Given the description of an element on the screen output the (x, y) to click on. 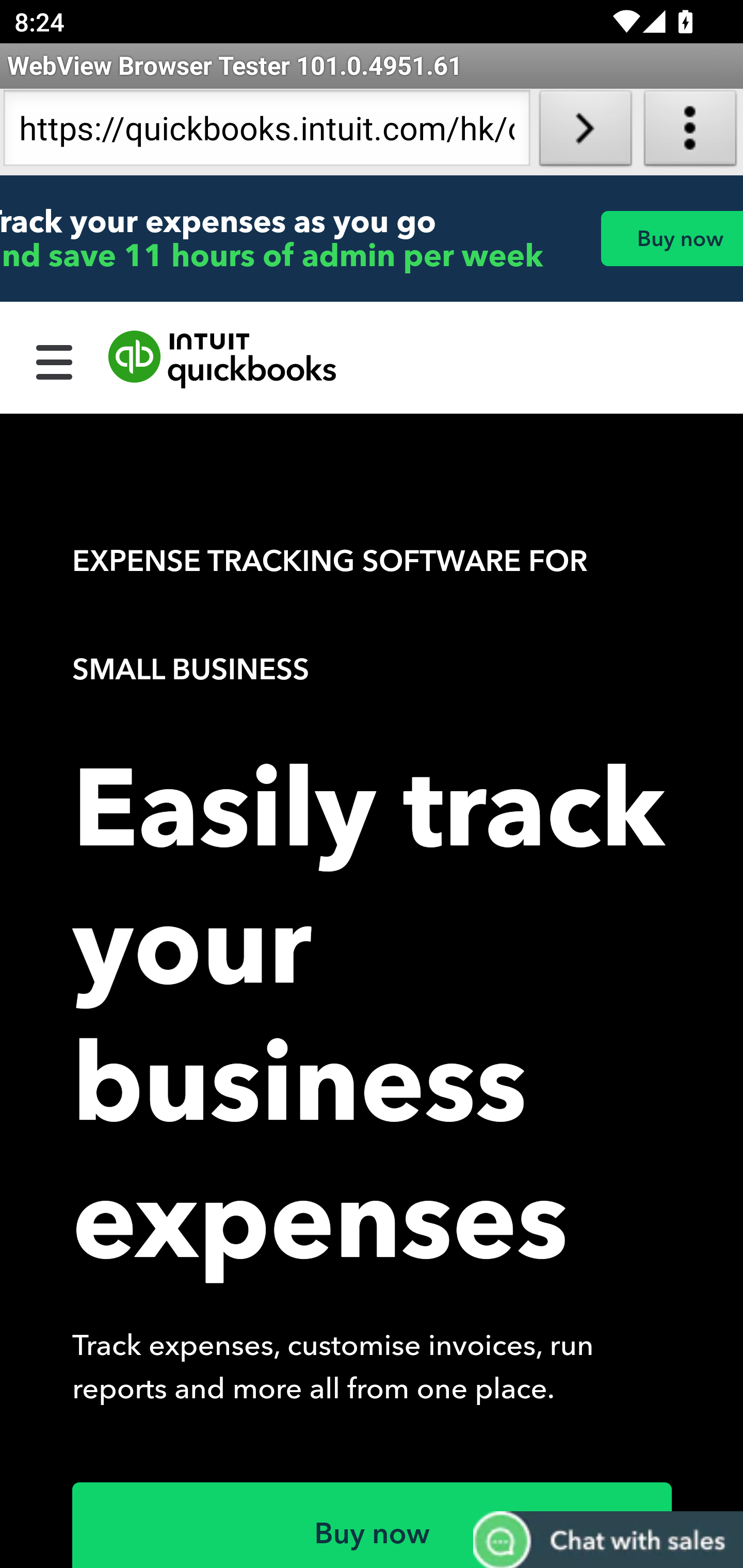
Load URL (585, 132)
About WebView (690, 132)
Buy now (671, 238)
quickbooks-mobile-burger (54, 359)
quickbooks (222, 359)
Buy now (372, 1524)
